Given the description of an element on the screen output the (x, y) to click on. 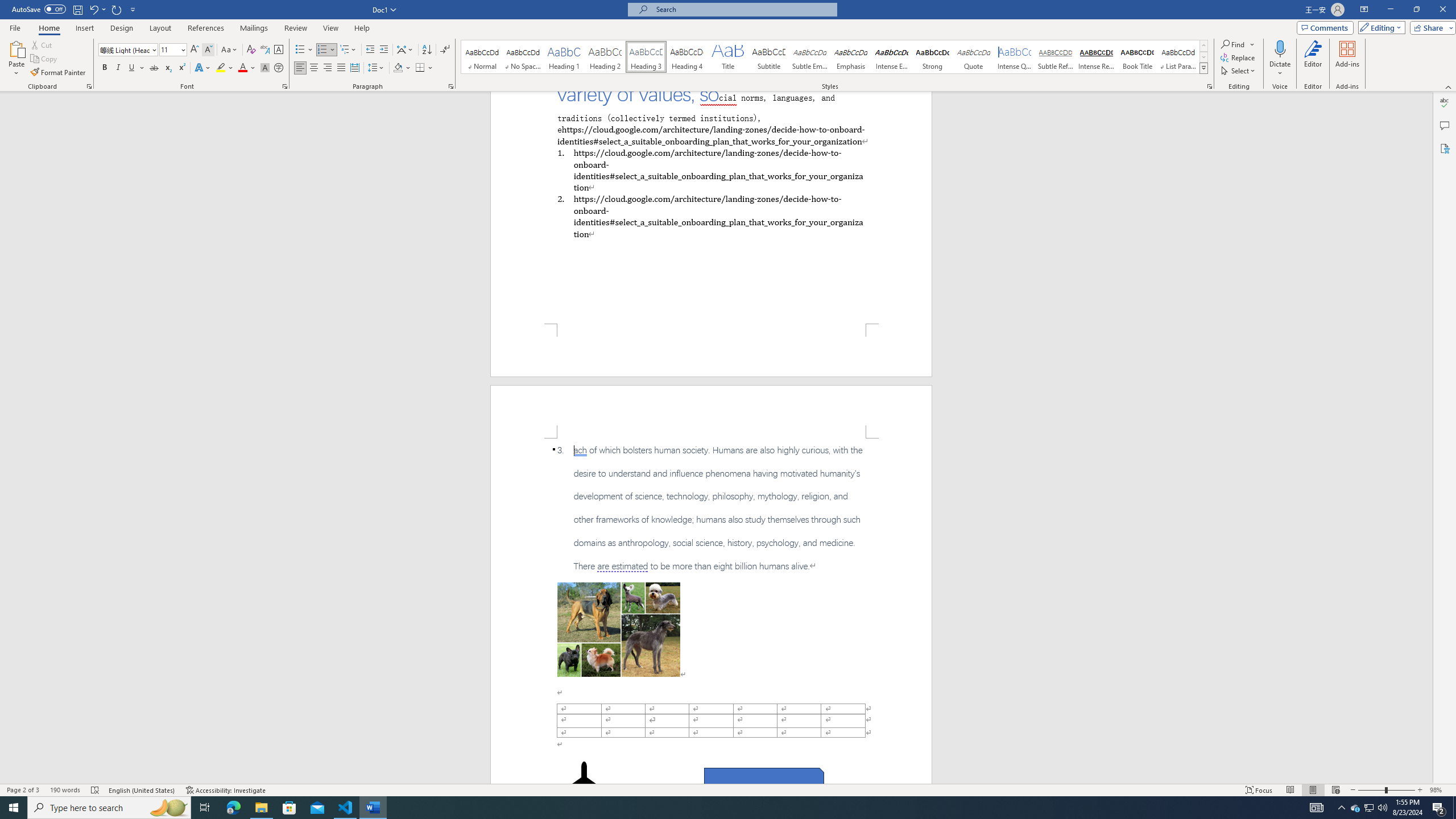
Title (727, 56)
Align Right (327, 67)
Quote (973, 56)
Character Border (278, 49)
Intense Emphasis (891, 56)
Subtle Emphasis (809, 56)
Page 1 content (710, 207)
